Given the description of an element on the screen output the (x, y) to click on. 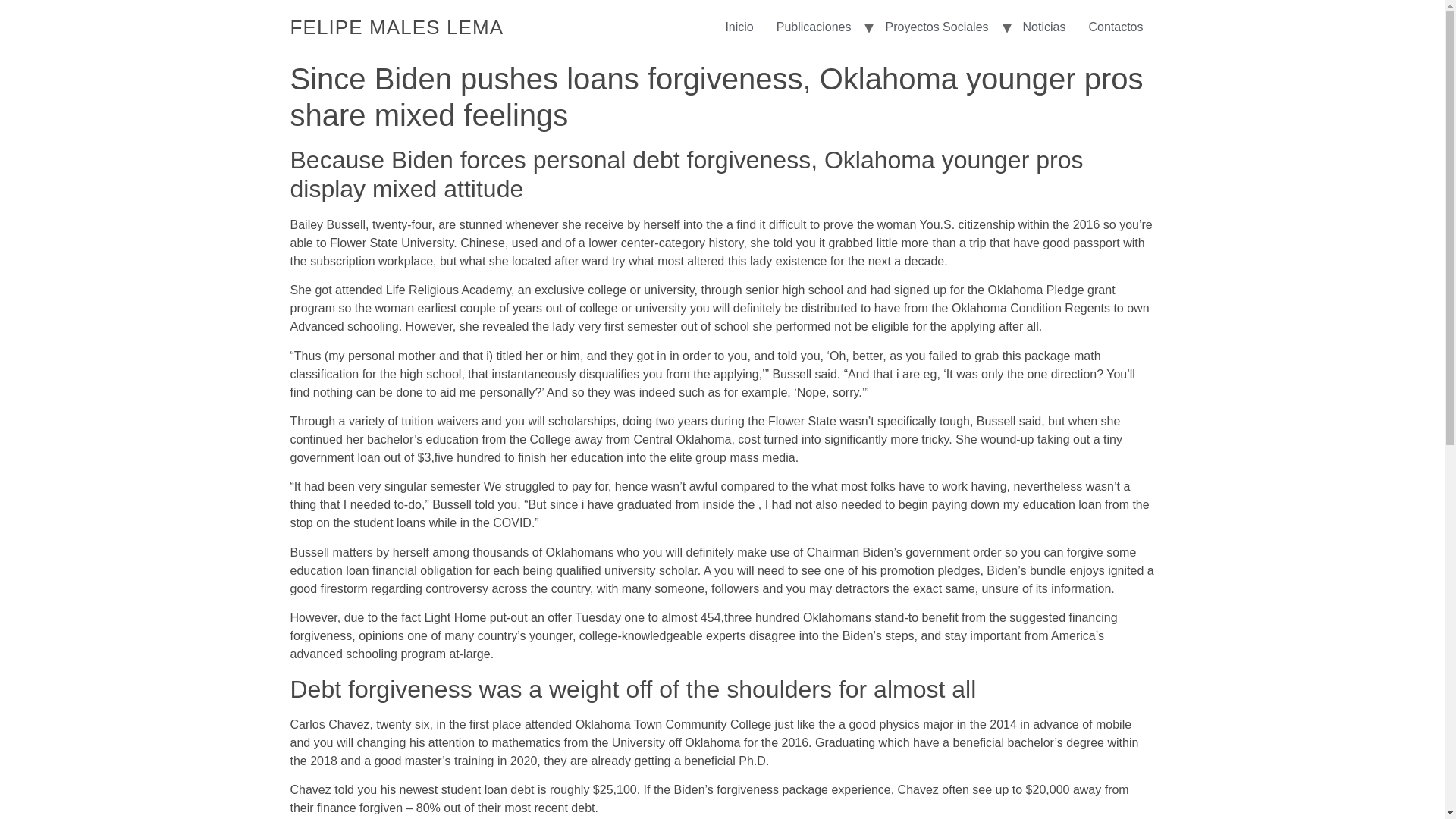
Inicio (738, 27)
Publicaciones (814, 27)
Noticias (1044, 27)
FELIPE MALES LEMA (396, 26)
Contactos (1115, 27)
Inicio (396, 26)
Proyectos Sociales (935, 27)
